Given the description of an element on the screen output the (x, y) to click on. 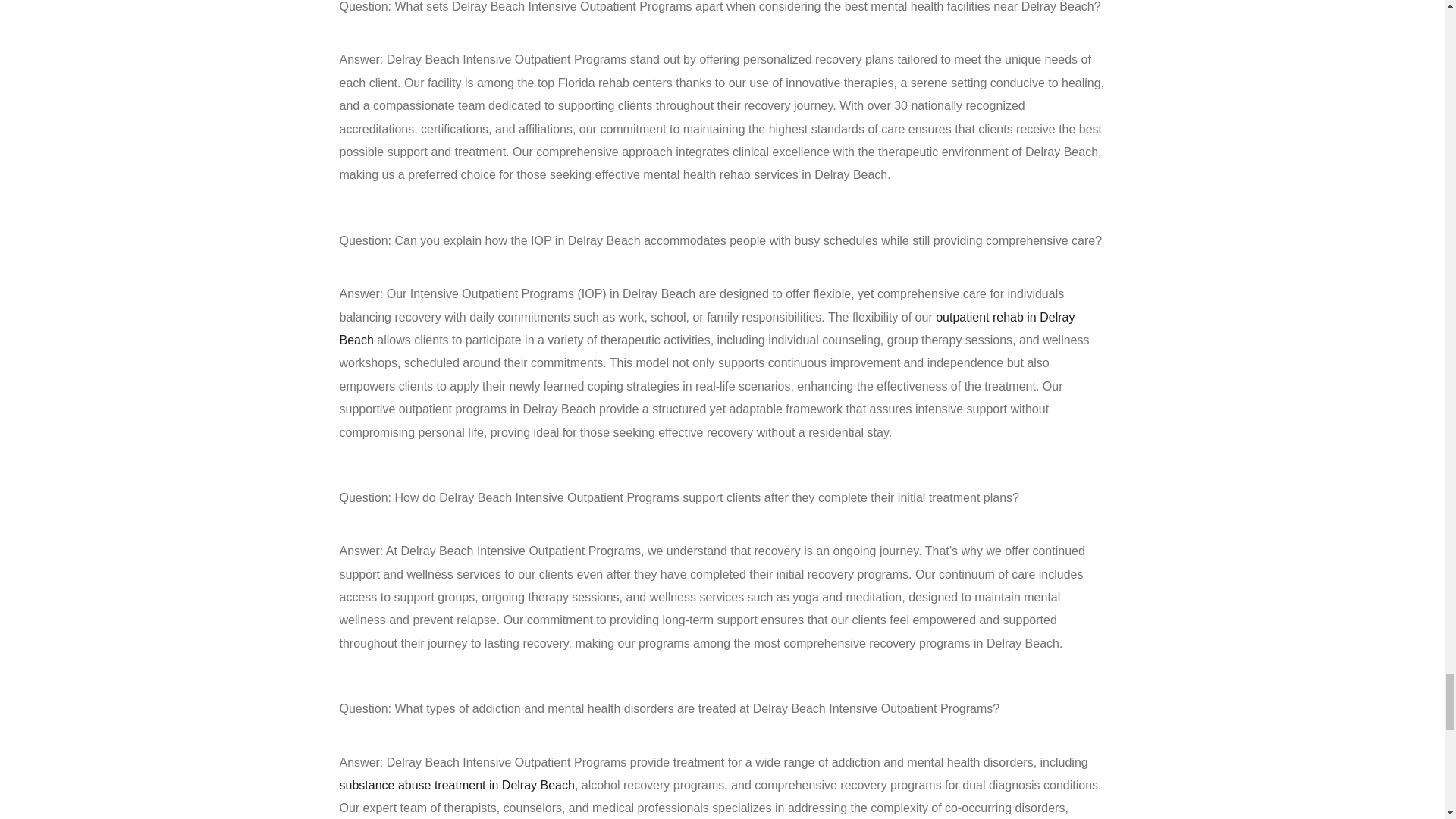
outpatient rehab in Delray Beach (707, 328)
substance abuse treatment in Delray Beach (457, 784)
